Given the description of an element on the screen output the (x, y) to click on. 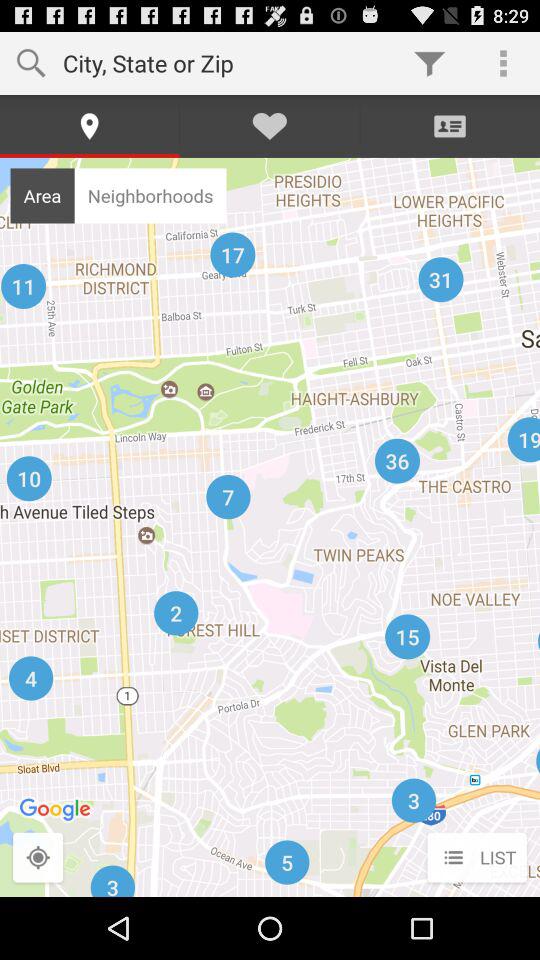
launch item to the left of neighborhoods (42, 195)
